Given the description of an element on the screen output the (x, y) to click on. 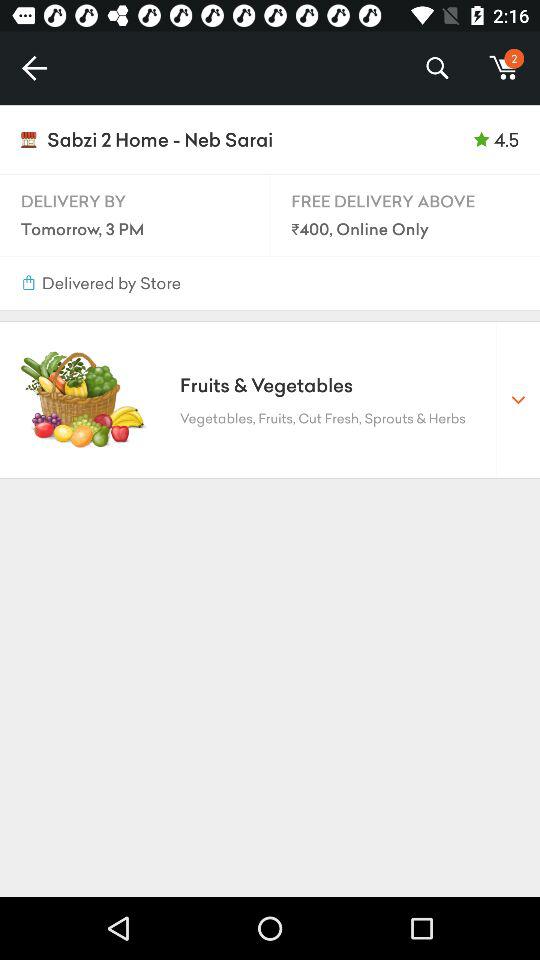
choose icon to the left of m (436, 67)
